Given the description of an element on the screen output the (x, y) to click on. 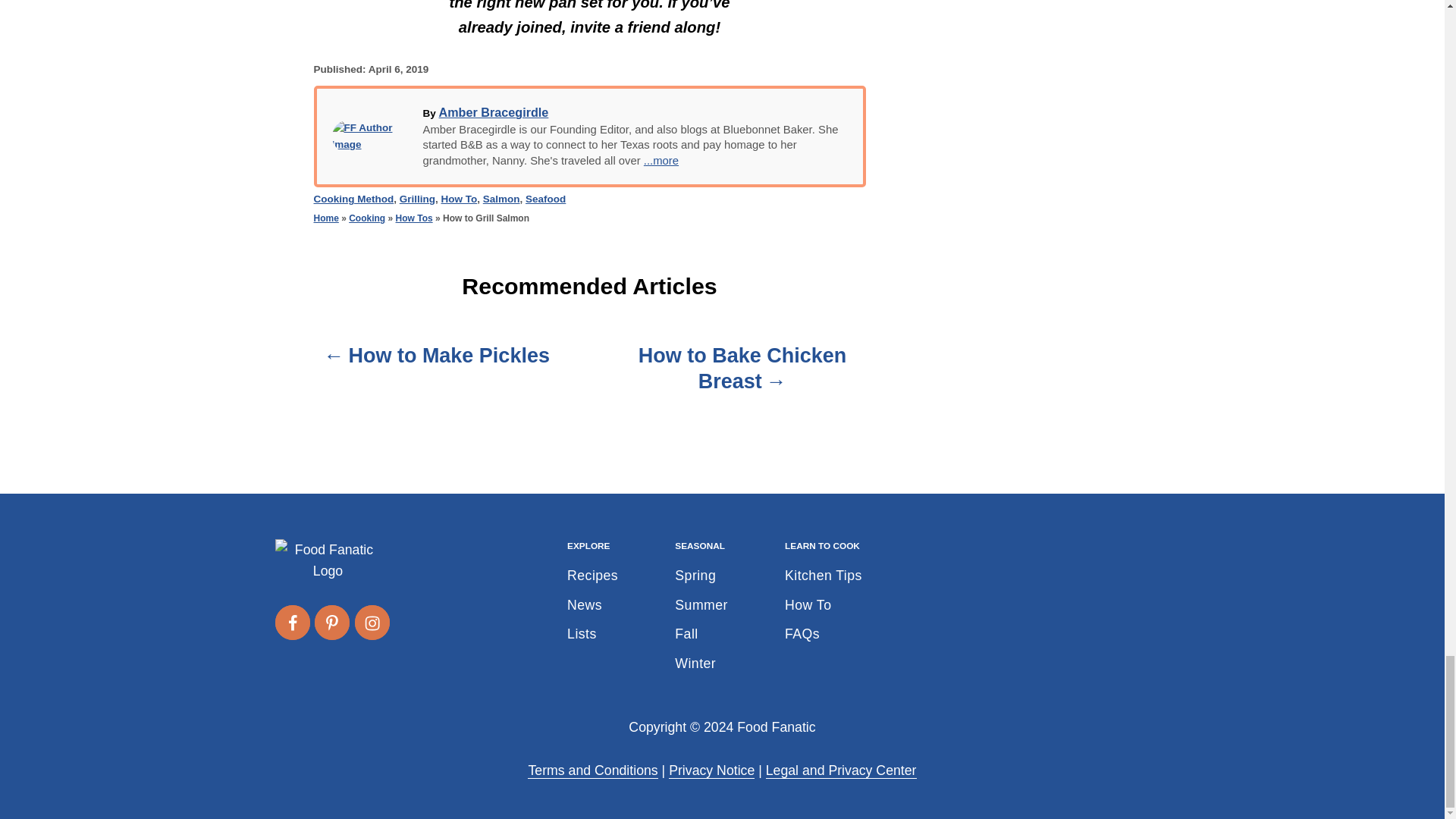
Follow on Instagram (372, 622)
Follow on Pinterest (331, 622)
Follow on Facebook (291, 622)
